Given the description of an element on the screen output the (x, y) to click on. 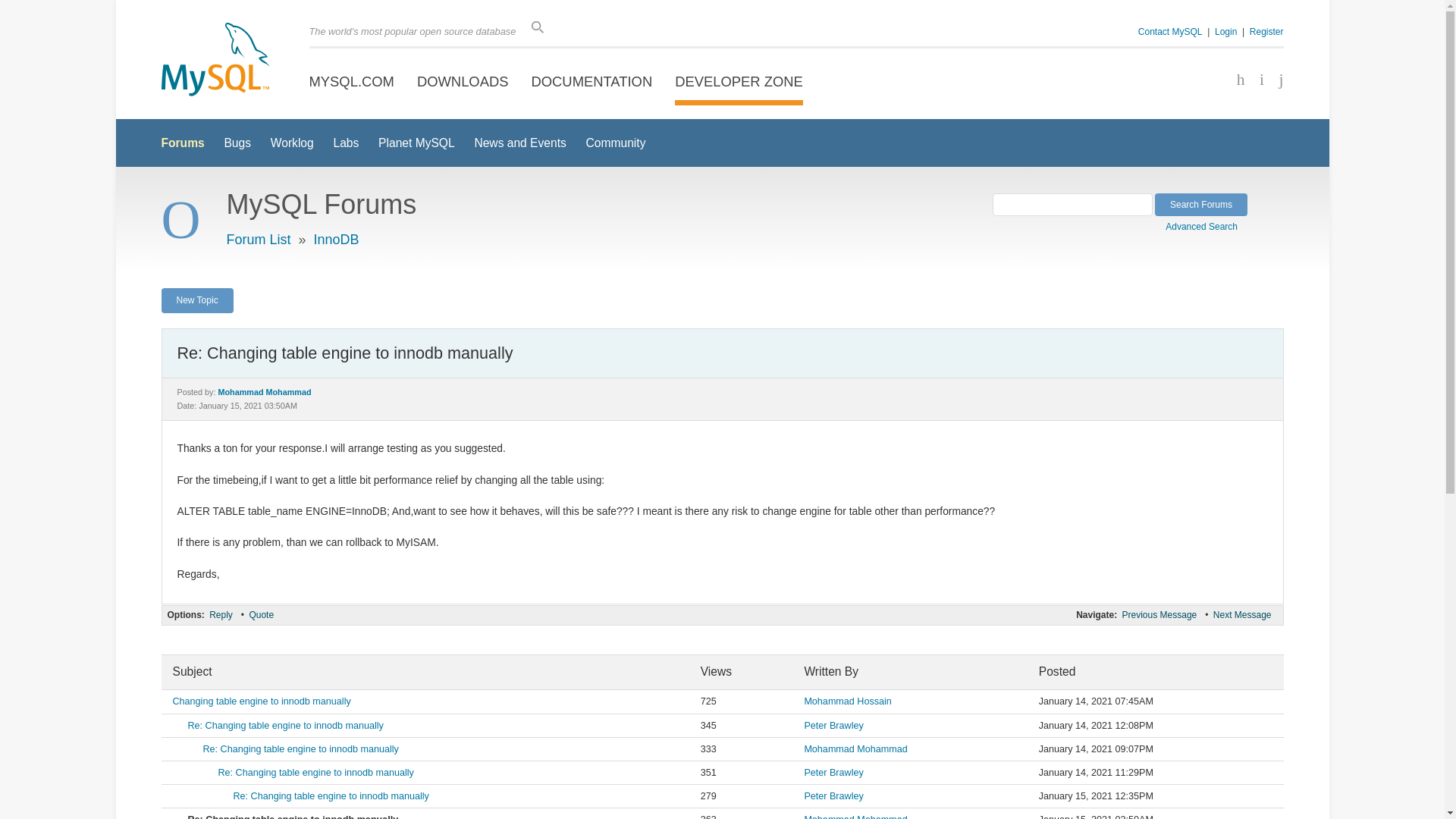
Quote (261, 614)
Join us on Facebook (1234, 80)
Mohammad Hossain (847, 701)
MySQL (214, 60)
Community (616, 142)
Worklog (292, 142)
DOWNLOADS (462, 81)
Reply (220, 614)
InnoDB (336, 239)
Labs (346, 142)
Follow us on Twitter (1255, 80)
Search Forums (1200, 204)
Re: Changing table engine to innodb manually (285, 725)
Changing table engine to innodb manually (261, 701)
Peter Brawley (833, 725)
